Given the description of an element on the screen output the (x, y) to click on. 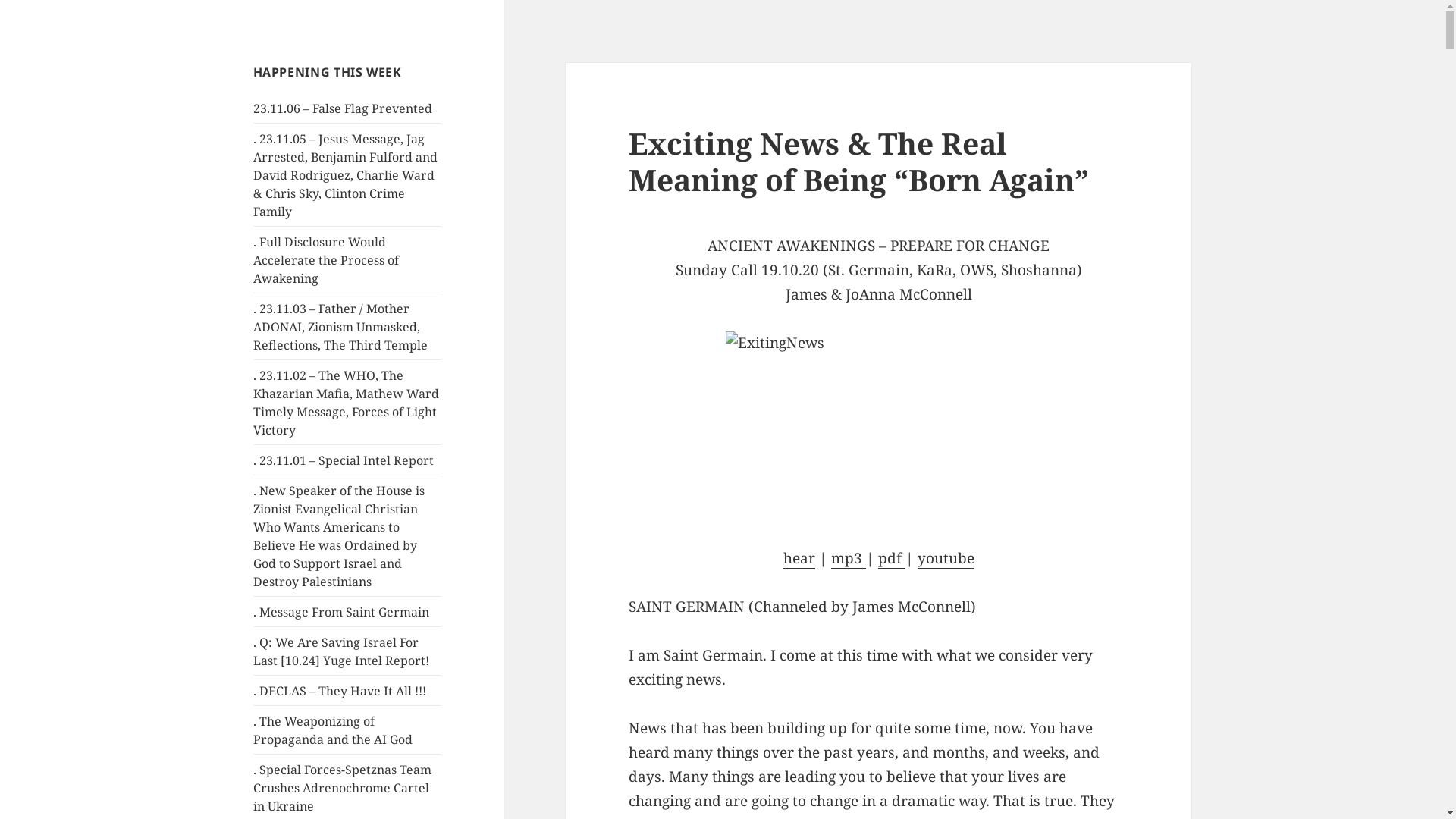
pdf Element type: text (891, 558)
. Full Disclosure Would Accelerate the Process of Awakening Element type: text (325, 259)
hear Element type: text (799, 558)
youtube Element type: text (945, 558)
mp3 Element type: text (848, 558)
. The Weaponizing of Propaganda and the AI God Element type: text (332, 729)
. Message From Saint Germain Element type: text (341, 611)
